Given the description of an element on the screen output the (x, y) to click on. 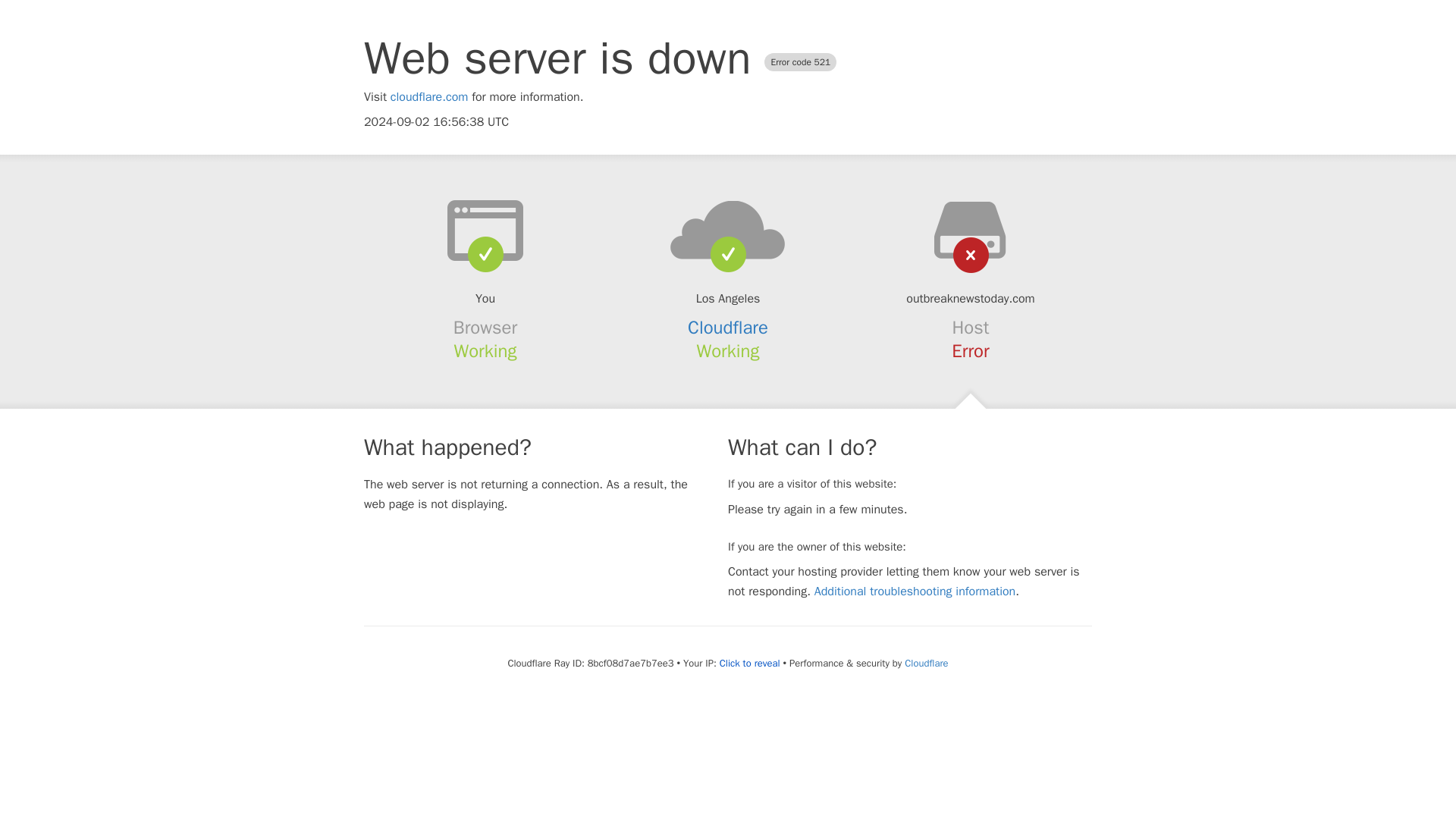
Cloudflare (727, 327)
Additional troubleshooting information (913, 590)
Cloudflare (925, 662)
cloudflare.com (429, 96)
Click to reveal (749, 663)
